Given the description of an element on the screen output the (x, y) to click on. 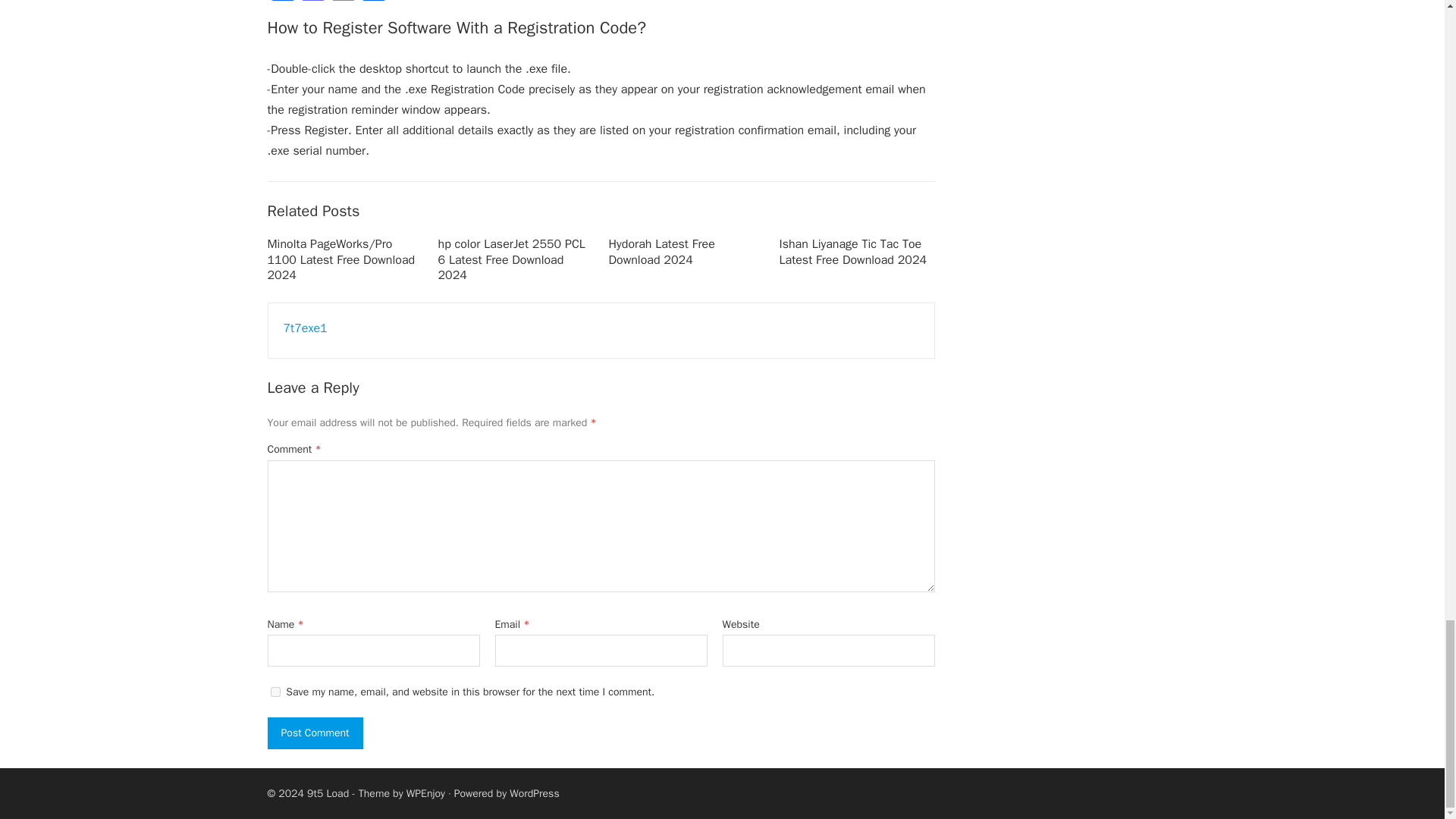
Email (342, 2)
9t5 Load (328, 793)
Post Comment (314, 733)
hp color LaserJet 2550 PCL 6 Latest Free Download 2024 (511, 259)
Mastodon (312, 2)
WordPress (534, 793)
yes (274, 691)
Post Comment (314, 733)
7t7exe1 (305, 328)
Facebook (281, 2)
